Given the description of an element on the screen output the (x, y) to click on. 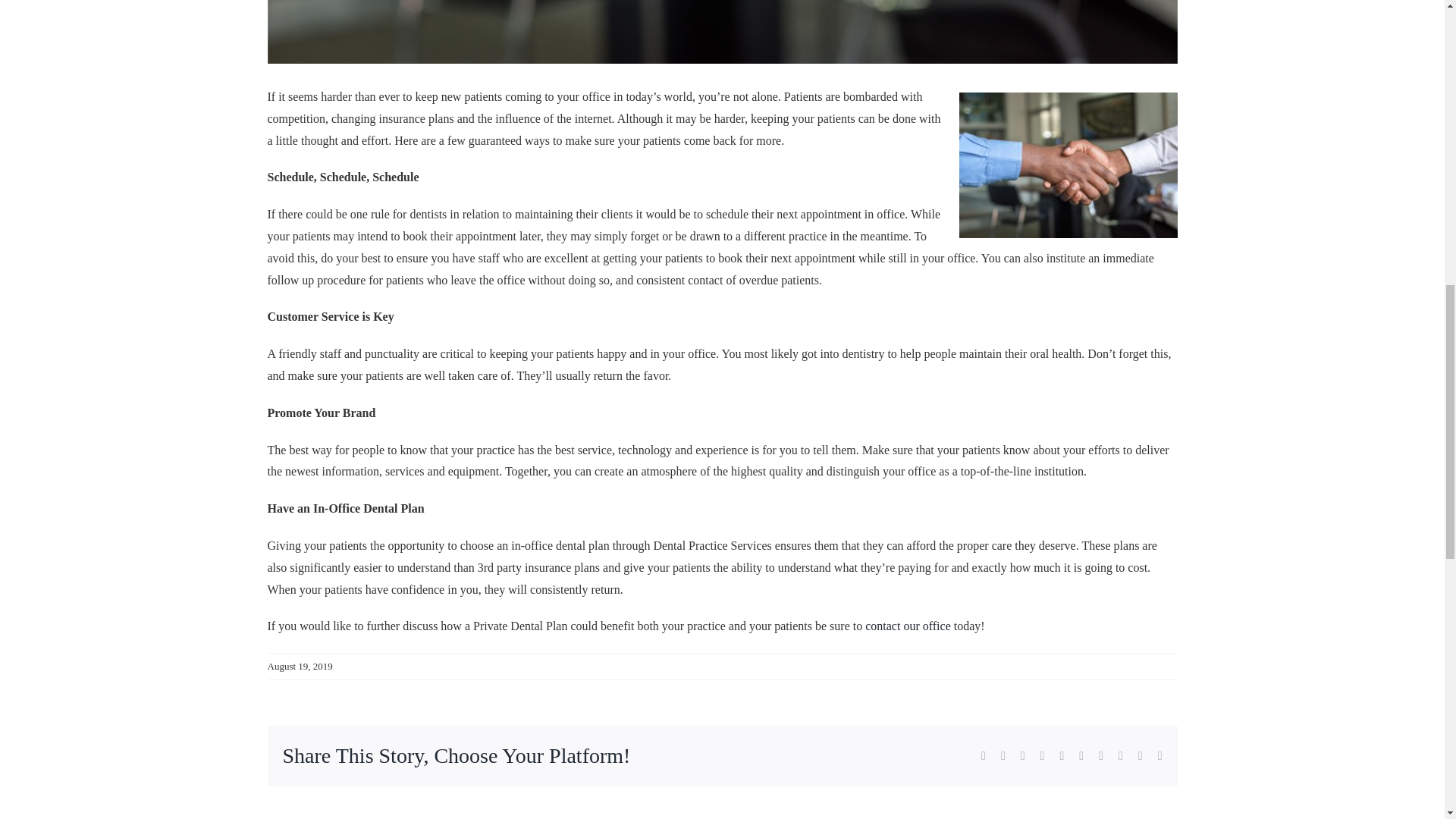
contact our office (907, 625)
View Larger Image (721, 31)
